Given the description of an element on the screen output the (x, y) to click on. 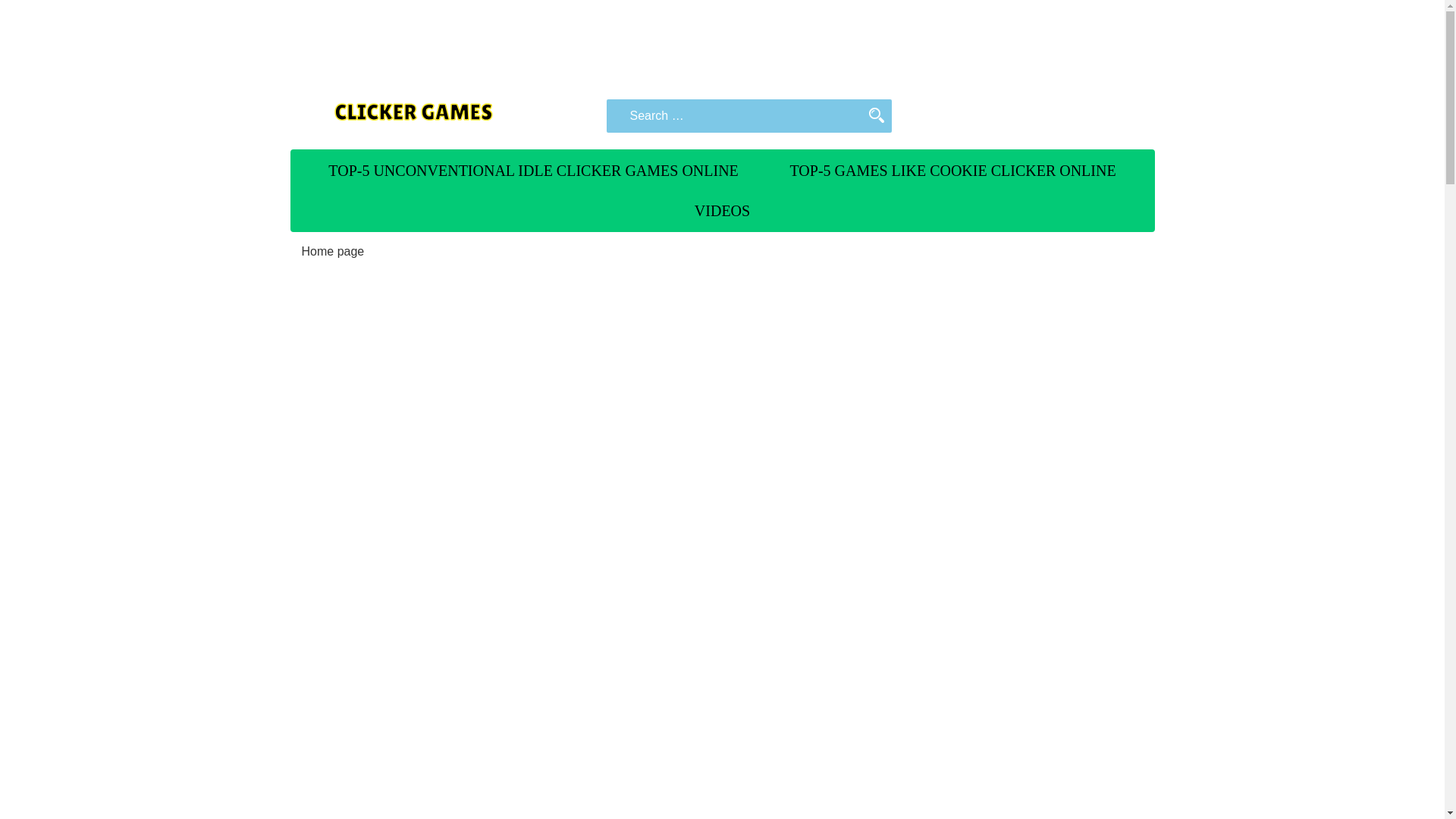
VIDEOS (721, 210)
Home page (333, 250)
TOP-5 GAMES LIKE COOKIE CLICKER ONLINE (951, 170)
TOP-5 UNCONVENTIONAL IDLE CLICKER GAMES ONLINE (533, 170)
